Given the description of an element on the screen output the (x, y) to click on. 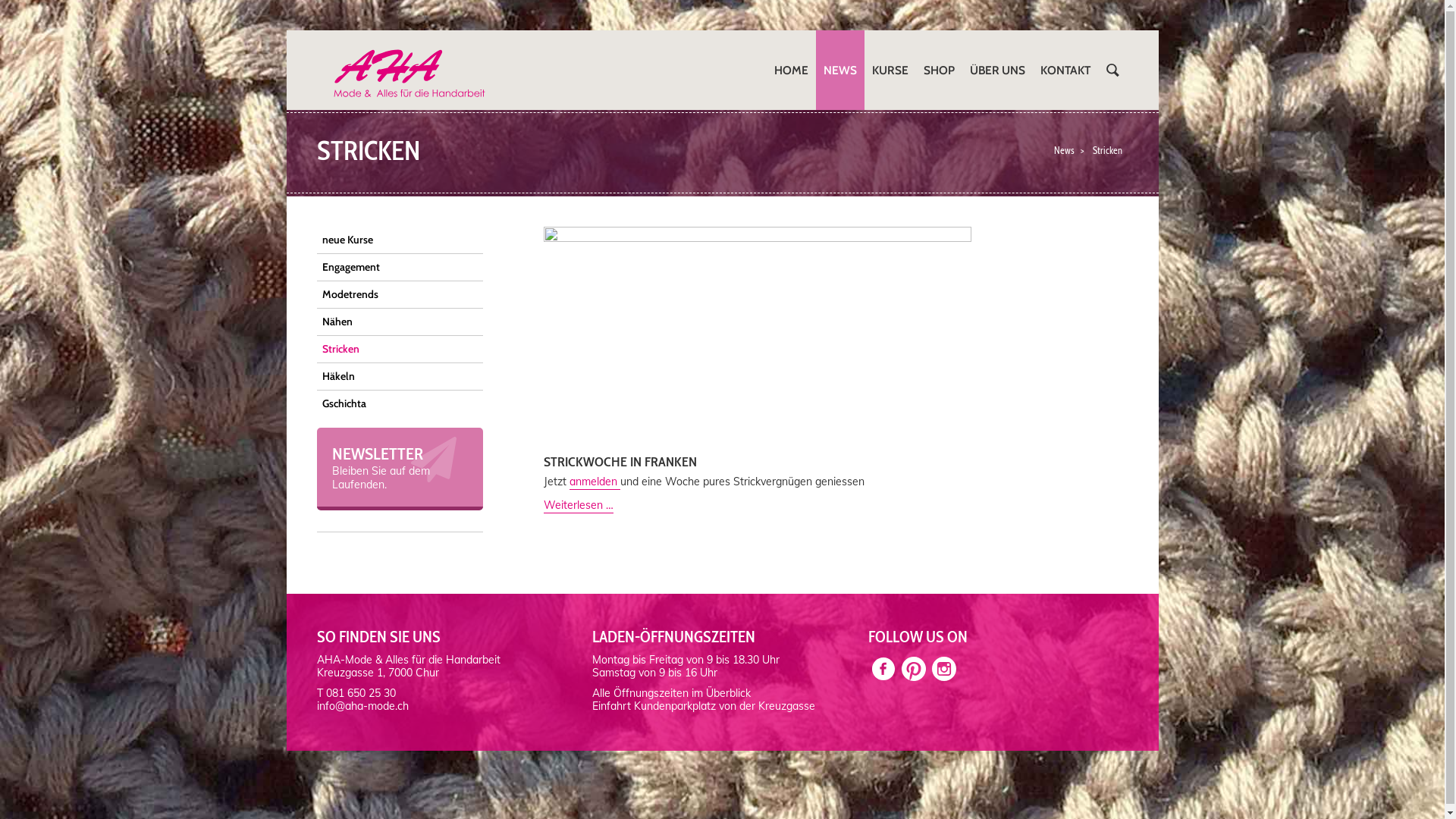
NEWSLETTER
Bleiben Sie auf dem Laufenden. Element type: text (399, 468)
News Element type: text (1064, 150)
KONTAKT Element type: text (1065, 69)
SHOP Element type: text (939, 69)
Engagement Element type: text (399, 267)
anmelden Element type: text (593, 481)
neue Kurse Element type: text (399, 240)
Gschichta Element type: text (399, 403)
STRICKWOCHE IN FRANKEN Element type: text (619, 461)
KURSE Element type: text (890, 69)
SUCHEN Element type: text (1113, 69)
info@aha-mode.ch Element type: text (362, 705)
NEWS Element type: text (839, 69)
Modetrends Element type: text (399, 294)
HOME Element type: text (790, 69)
